Given the description of an element on the screen output the (x, y) to click on. 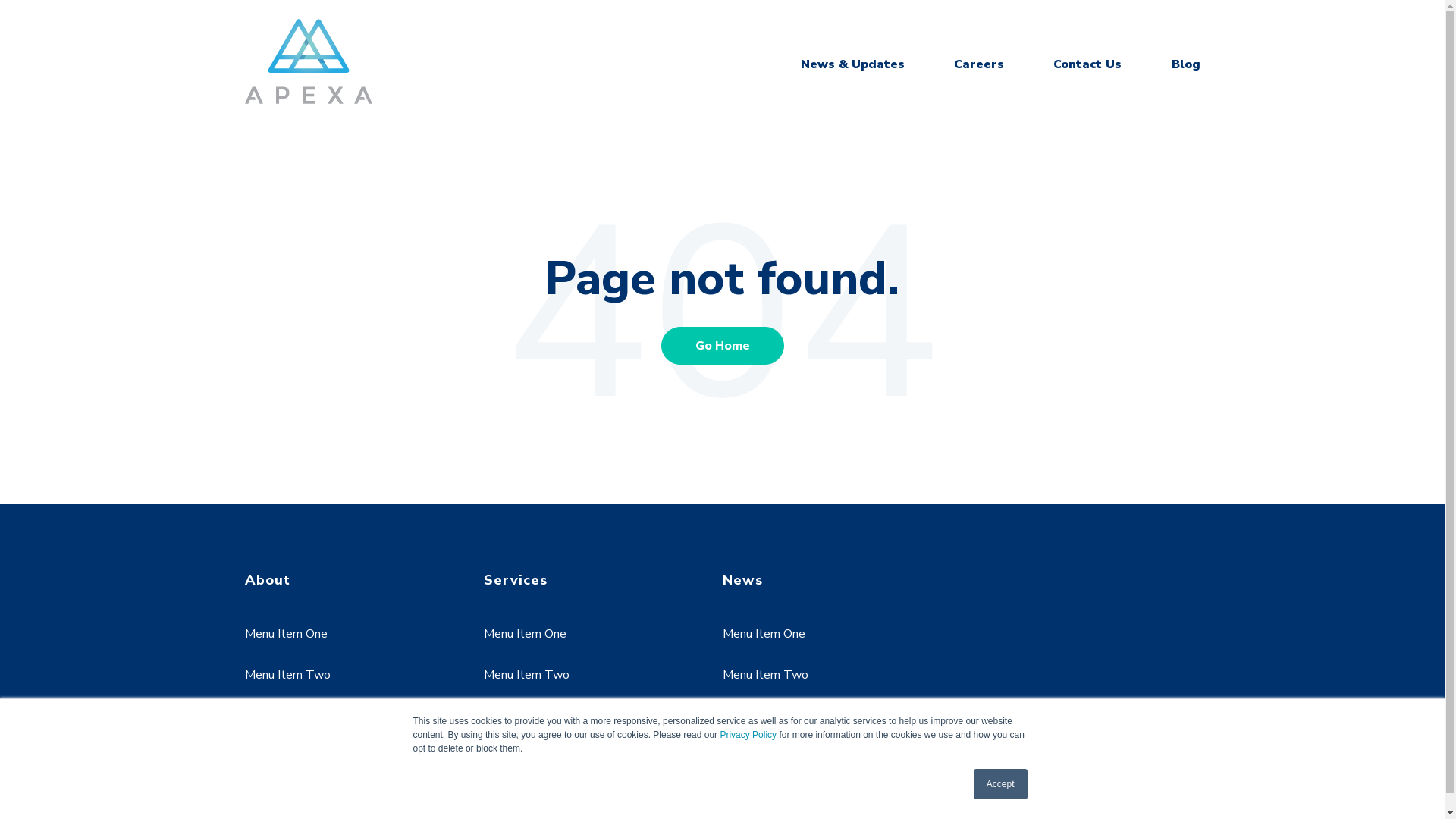
Follow us on Instagram Element type: text (373, 780)
Menu Item One Element type: text (762, 633)
Go Home Element type: text (722, 345)
Follow us on LinkedIn Element type: text (299, 780)
Privacy Policy Element type: text (747, 734)
Menu Item One Element type: text (285, 633)
Careers Element type: text (978, 64)
Accept Element type: text (1000, 783)
Menu Item Three Element type: text (290, 716)
Apexa - Simply Connected Element type: hover (307, 60)
Menu Item Two Element type: text (526, 674)
Blog Element type: text (1184, 64)
News & Updates Element type: text (852, 64)
Menu Item Three Element type: text (530, 716)
Follow us on Facebook Element type: text (262, 780)
Menu Item One Element type: text (524, 633)
Follow us on Twitter Element type: text (336, 780)
Menu Item Two Element type: text (286, 674)
Menu Item Two Element type: text (764, 674)
Menu Item Three Element type: text (768, 716)
Contact Us Element type: text (1087, 64)
